Given the description of an element on the screen output the (x, y) to click on. 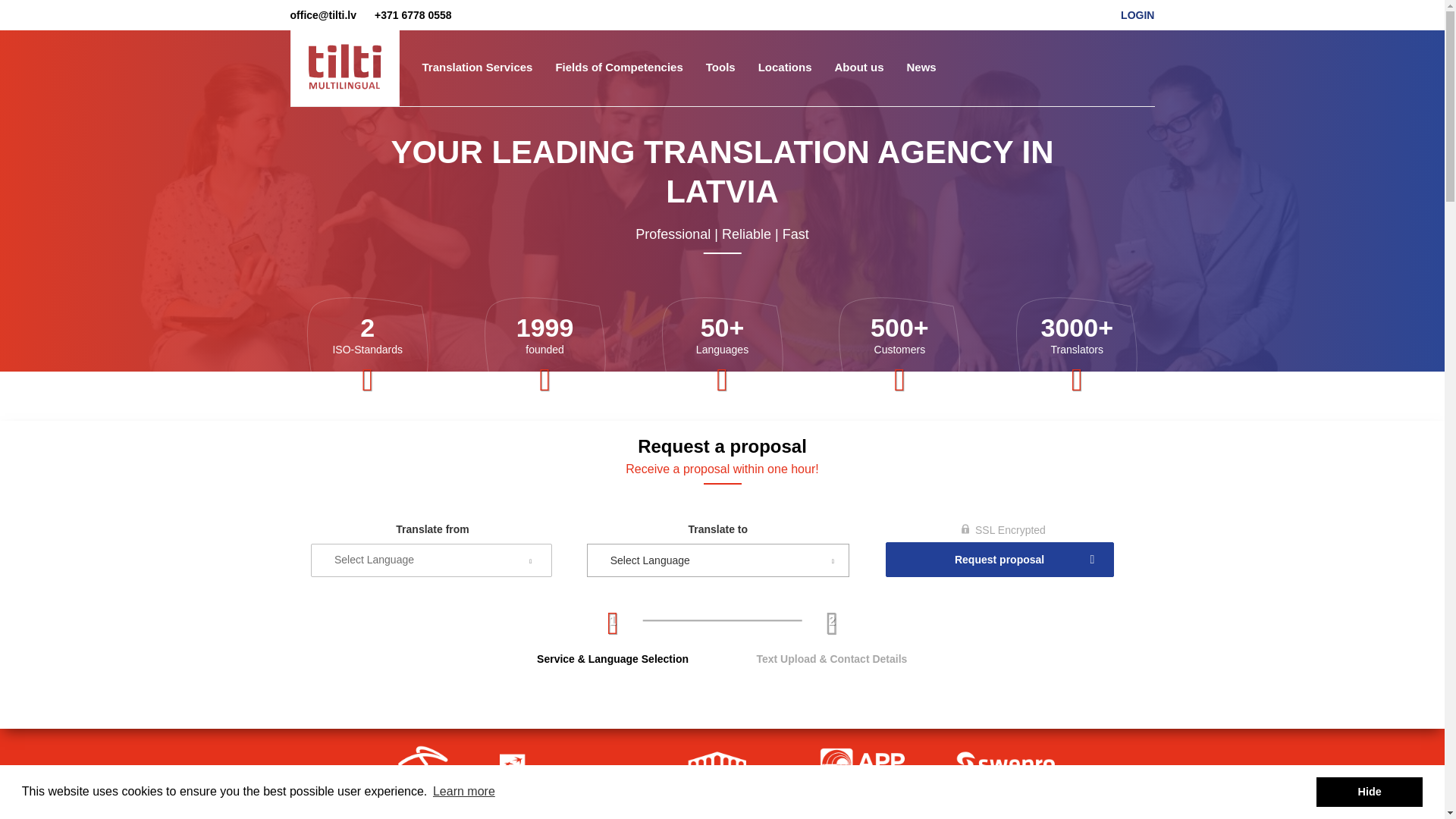
Locations (785, 67)
Hide (1369, 791)
Select Language (718, 560)
LOGIN (1137, 15)
Translation Services (477, 67)
Learn more (463, 791)
Select Language (718, 560)
About us (859, 67)
Request proposal (999, 559)
Fields of Competencies (618, 67)
